Given the description of an element on the screen output the (x, y) to click on. 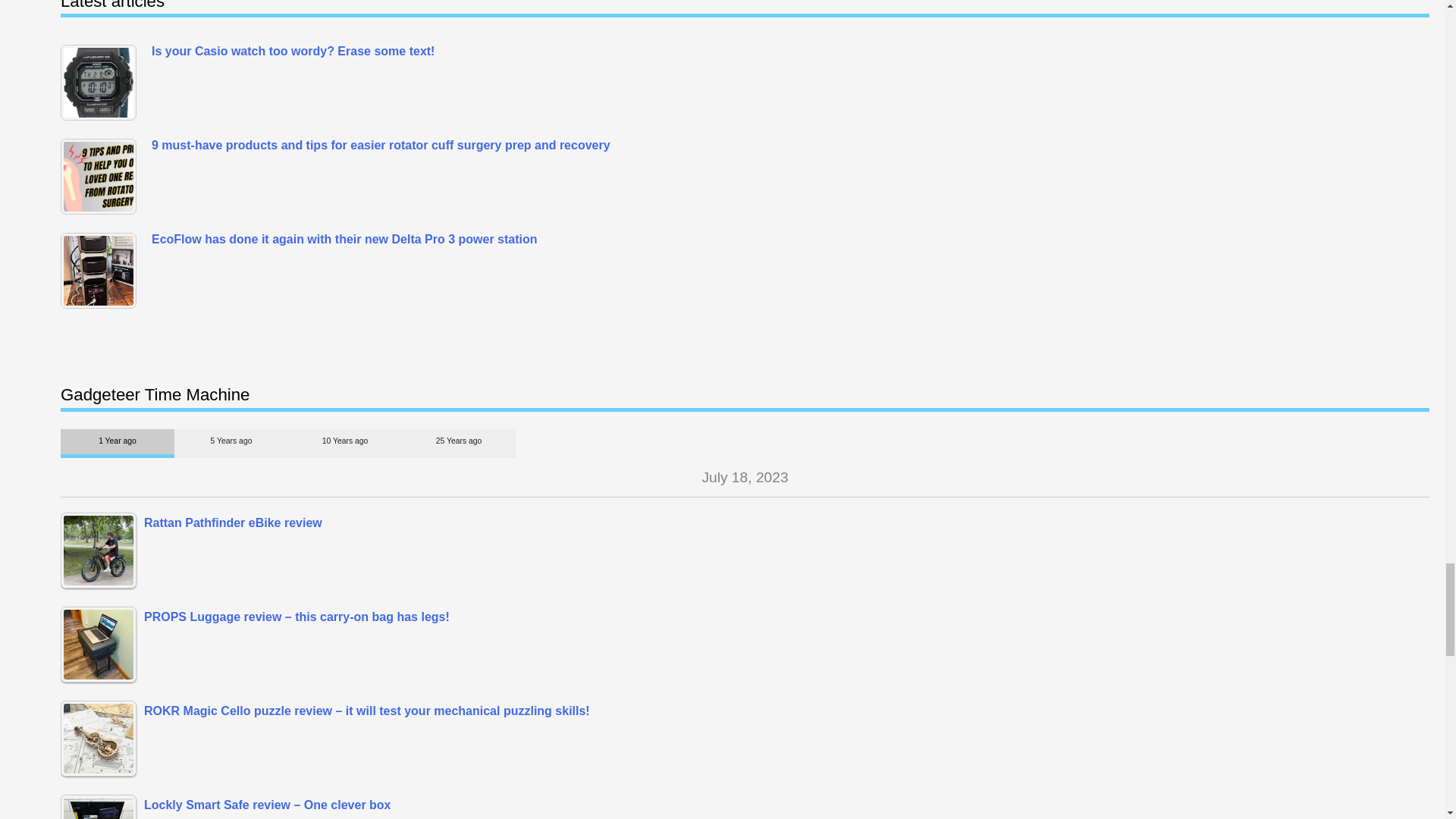
Is your Casio watch too wordy? Erase some text! (102, 82)
